Given the description of an element on the screen output the (x, y) to click on. 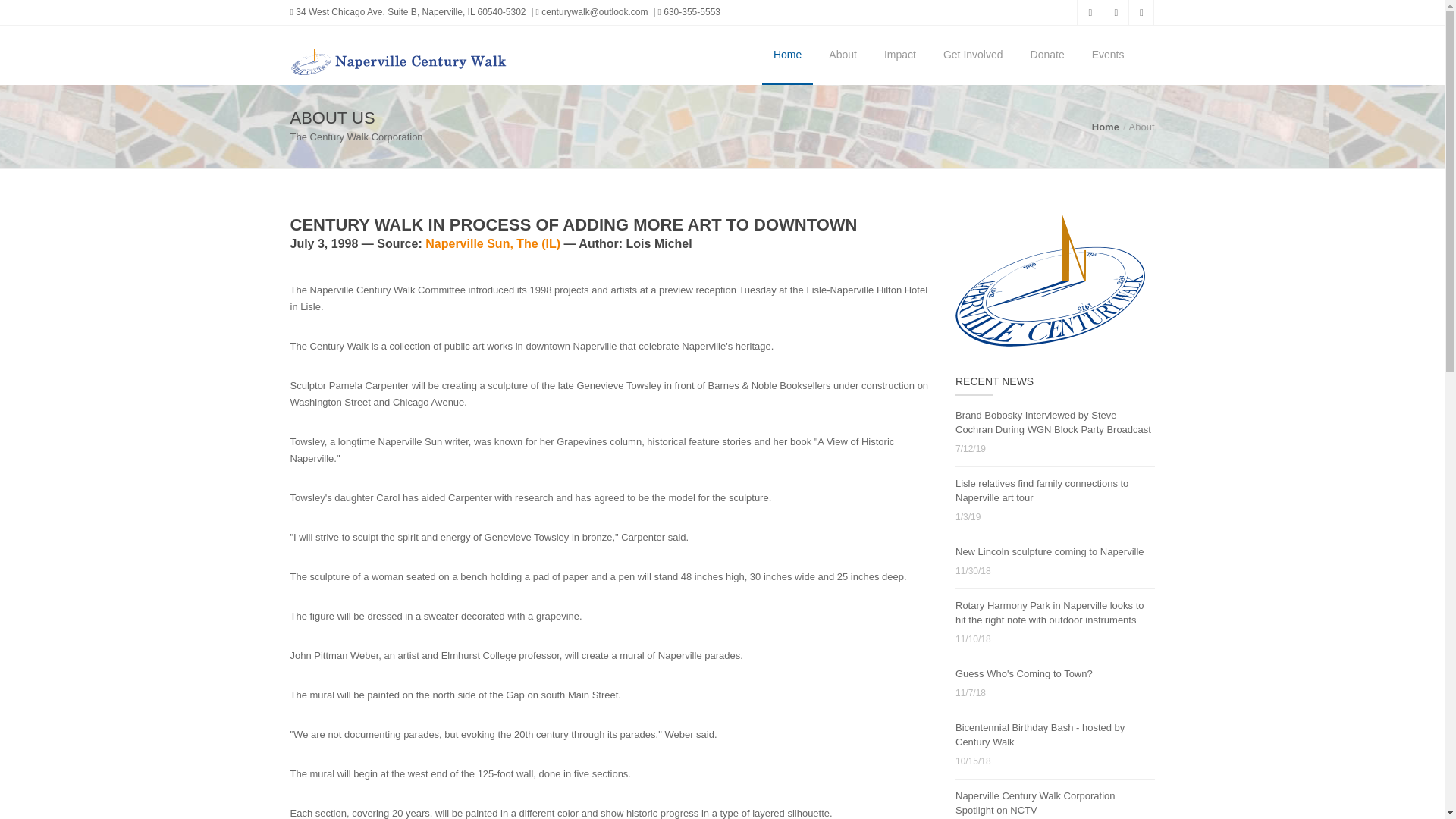
Guess Who's Coming to Town? (1024, 673)
New Lincoln sculpture coming to Naperville (1049, 551)
Home (786, 55)
Events (1107, 54)
Impact (899, 54)
34 West Chicago Ave. Suite B, Naperville, IL 60540-5302 (407, 12)
Donate (1047, 54)
630-355-5553 (685, 12)
Get Involved (972, 54)
Home (1105, 126)
About (841, 54)
Bicentennial Birthday Bash - hosted by Century Walk (1039, 734)
